Given the description of an element on the screen output the (x, y) to click on. 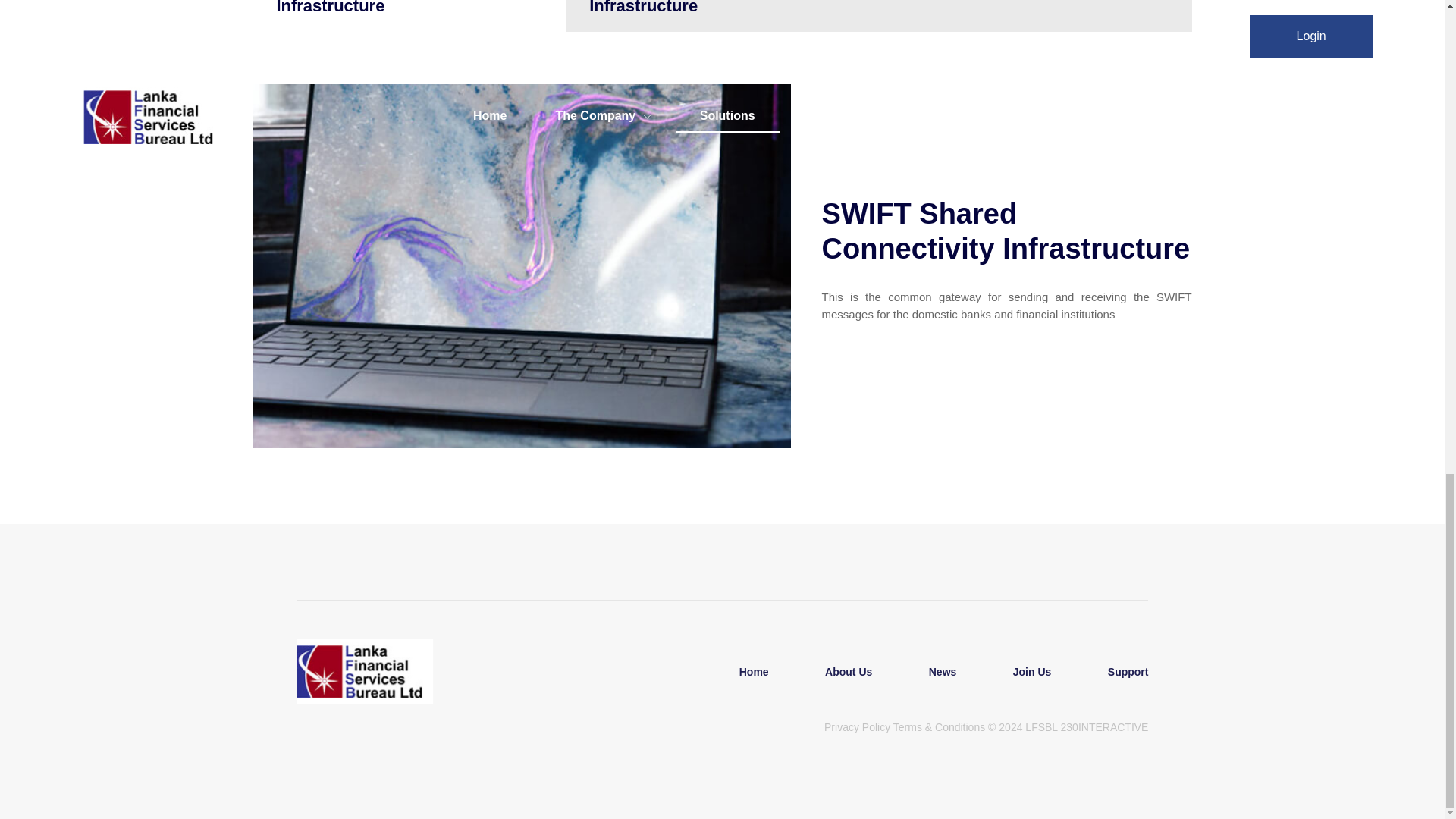
Home (753, 671)
230INTERACTIVE (1104, 727)
News (943, 671)
Value Added Services (1035, 15)
About Us (847, 671)
SWIFT Shared Messaging Infrastructure (722, 15)
Privacy Policy (856, 727)
Join Us (1032, 671)
SWIFT Shared Connectivity Infrastructure (408, 15)
Support (1114, 671)
